Given the description of an element on the screen output the (x, y) to click on. 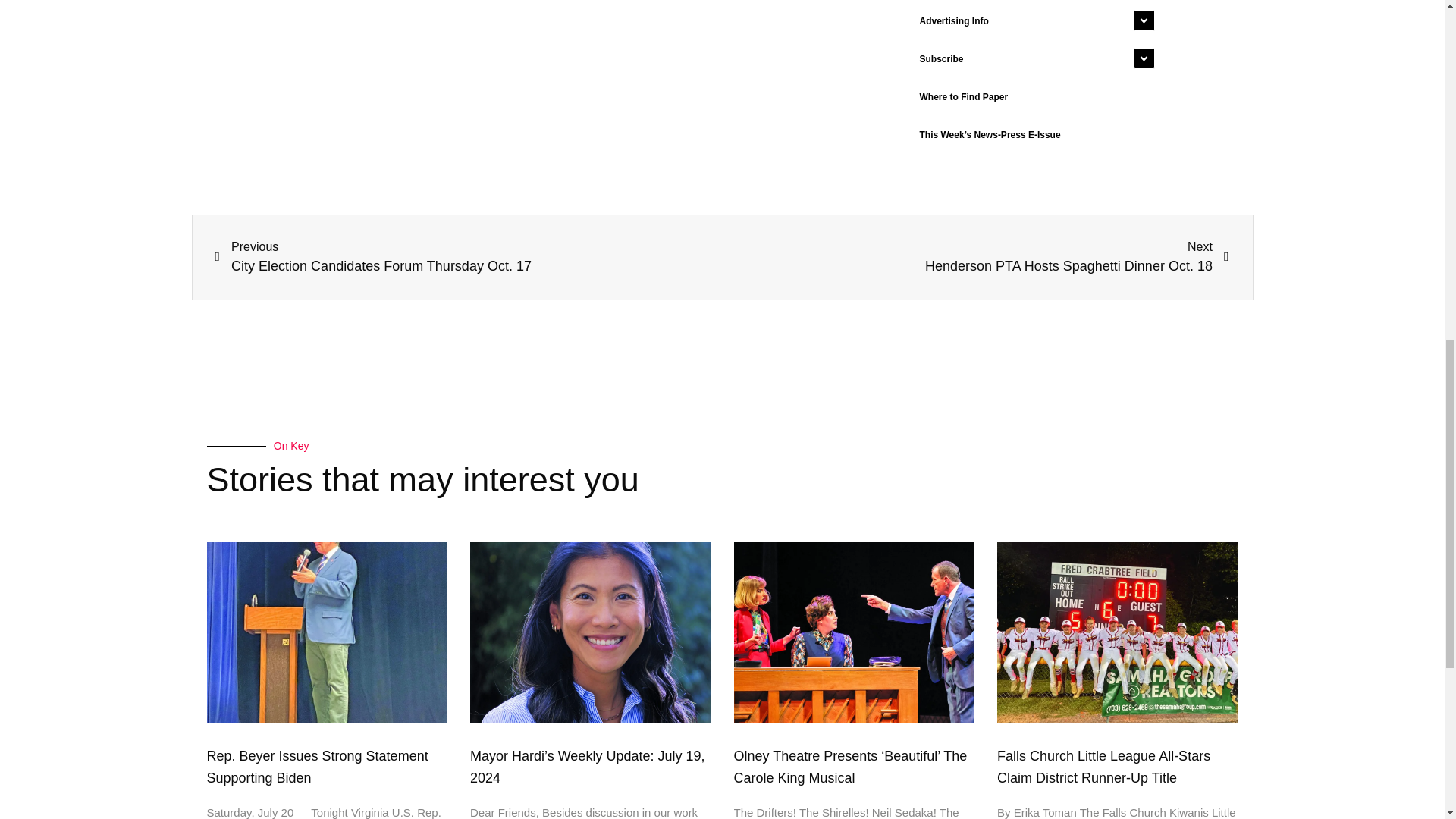
Advertising Info (1032, 21)
Subscribe (1032, 58)
